Given the description of an element on the screen output the (x, y) to click on. 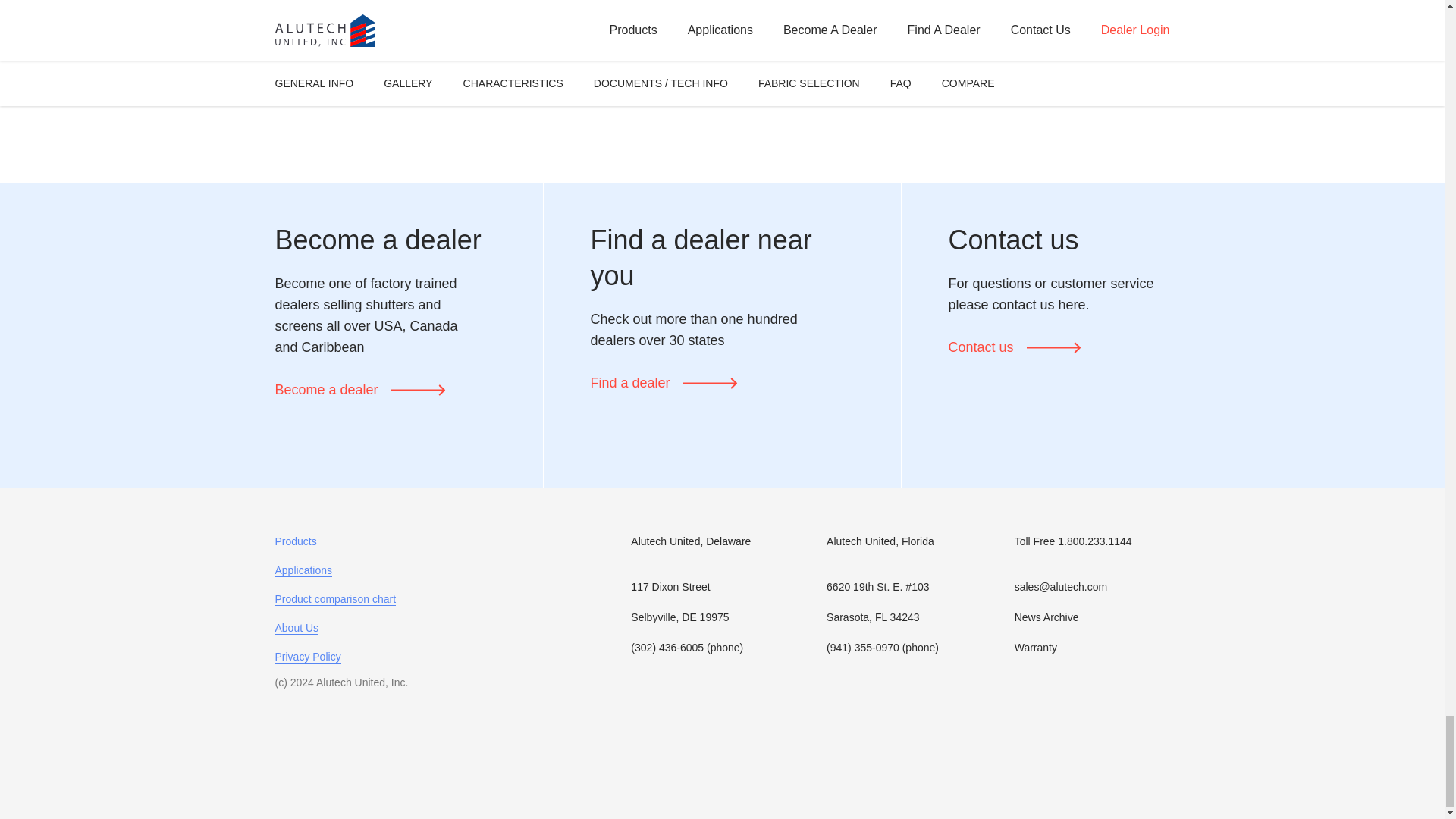
Privacy Policy (307, 656)
Find a dealer (662, 382)
Contact us (1013, 347)
Product comparison chart (335, 599)
Become a dealer (359, 389)
2024 (301, 682)
Applications (303, 570)
About Us (296, 627)
Products (295, 541)
About Alutech United (296, 627)
